Given the description of an element on the screen output the (x, y) to click on. 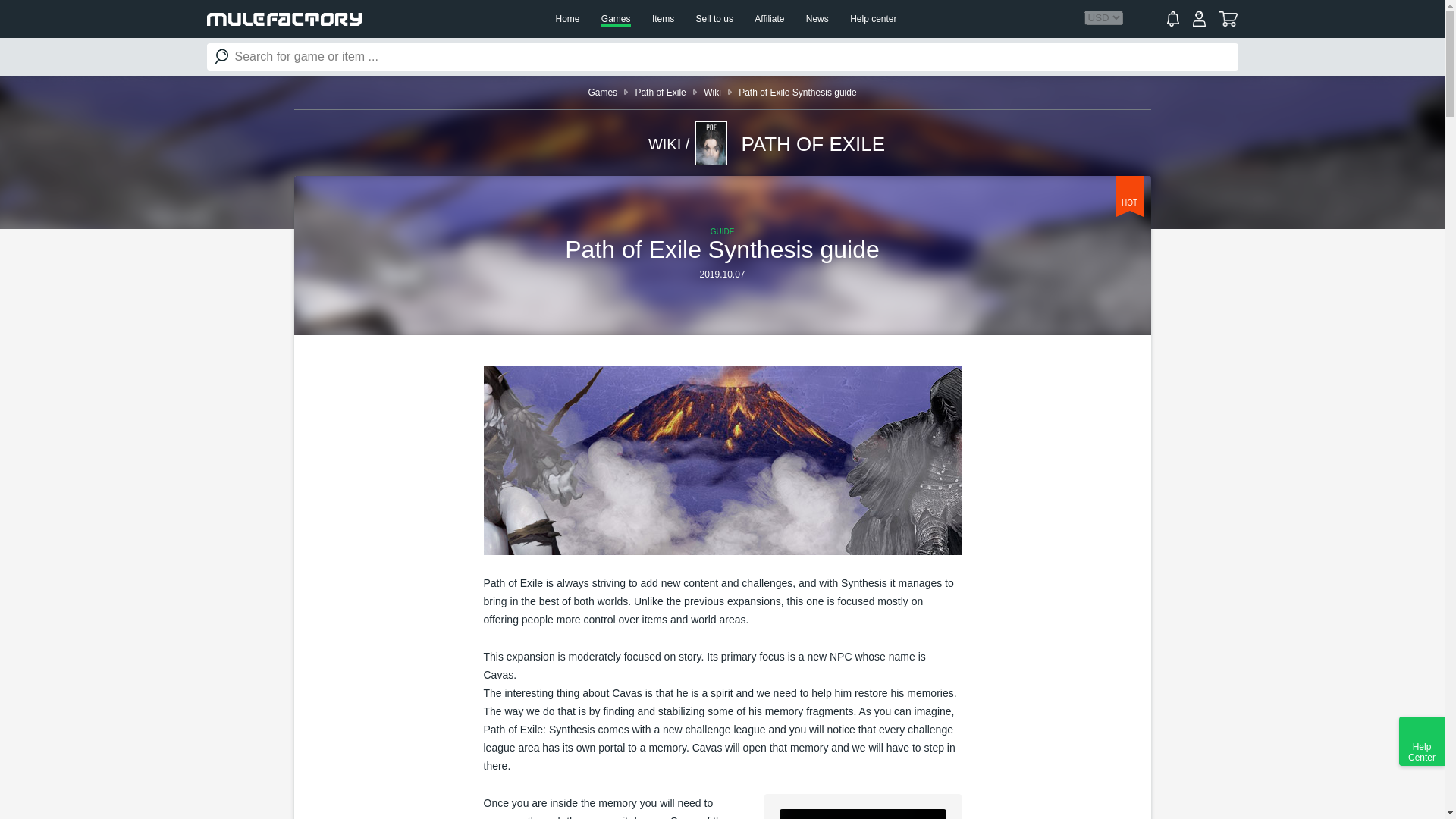
Items (663, 18)
Games (602, 91)
Mulefactory (283, 19)
Path of Exile Synthesis guide (797, 91)
Games (615, 19)
Affiliate (769, 18)
Sell to us (714, 18)
GO (221, 56)
Home (566, 18)
Path of Exile (659, 91)
